Given the description of an element on the screen output the (x, y) to click on. 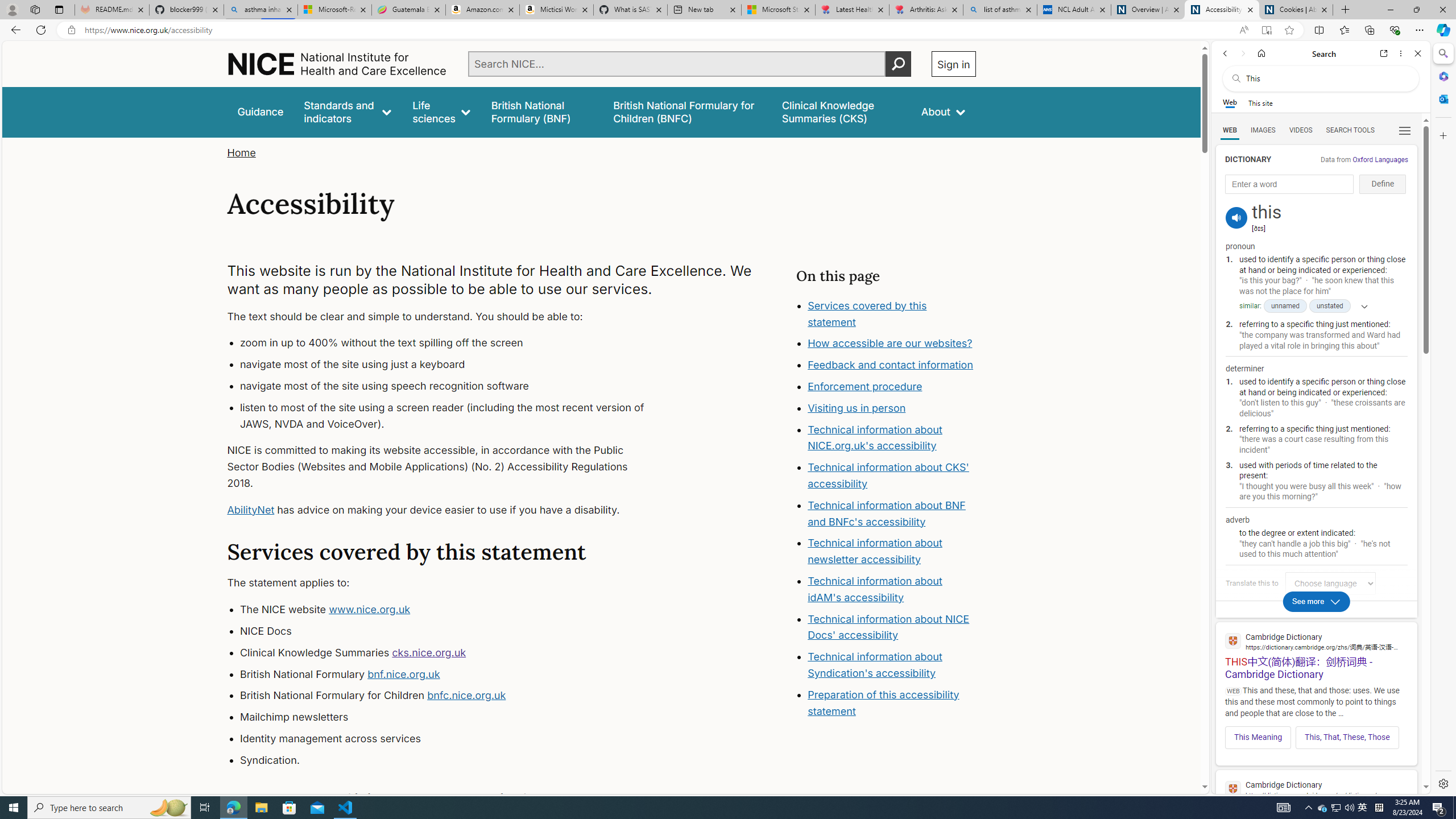
Technical information about CKS' accessibility (888, 475)
Oxford Languages (1379, 159)
Define (1382, 184)
Mailchimp newsletters (452, 717)
Cambridge Dictionary (1315, 788)
